Given the description of an element on the screen output the (x, y) to click on. 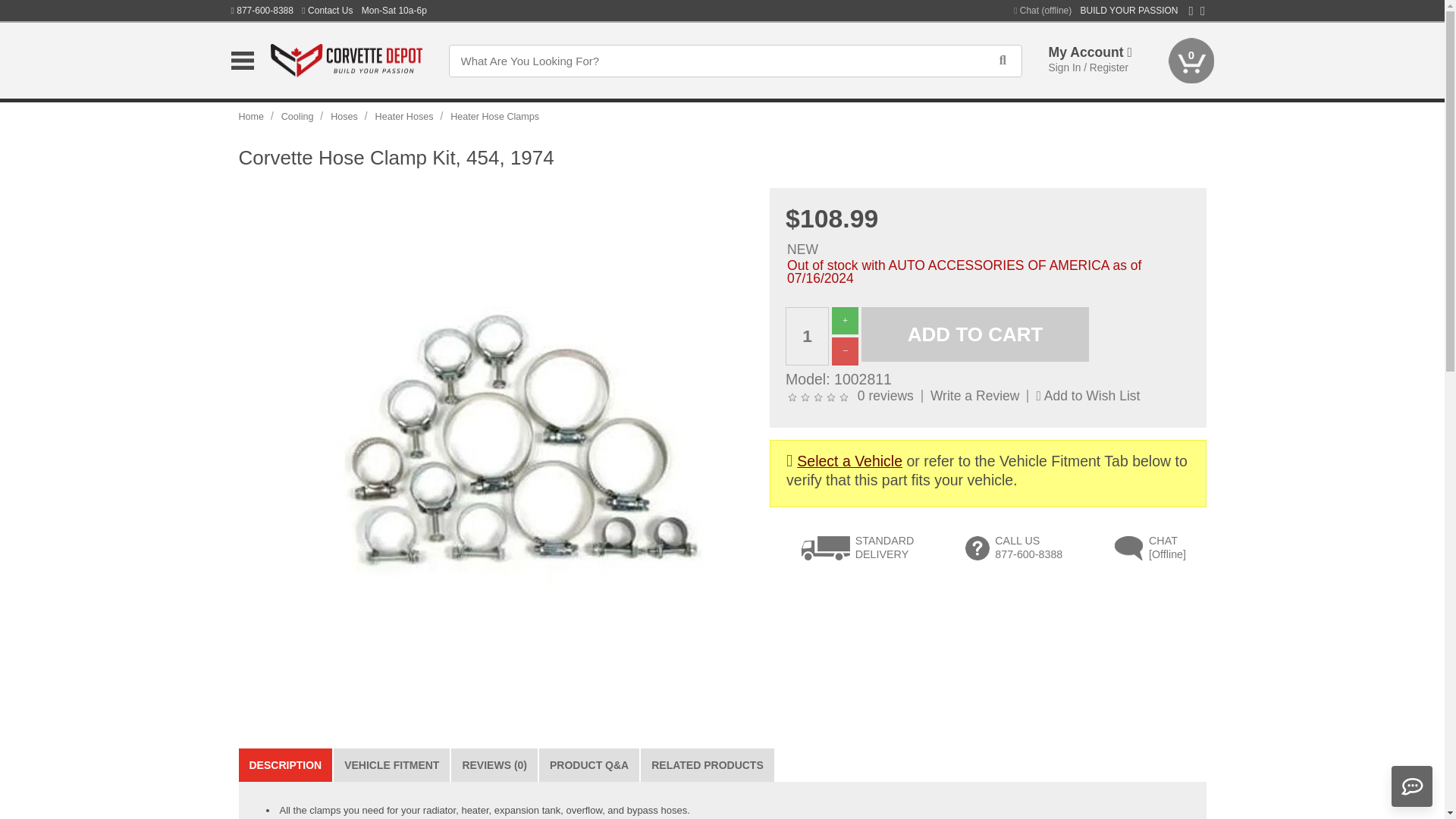
Corvette Hose Clamp Kit, 454, 1974 (496, 444)
1 (807, 336)
Twitter (1202, 11)
Add to Cart (975, 334)
This item ships at the standard ground rate. (858, 550)
Corvette Depot (345, 60)
Facebook (1191, 11)
